Given the description of an element on the screen output the (x, y) to click on. 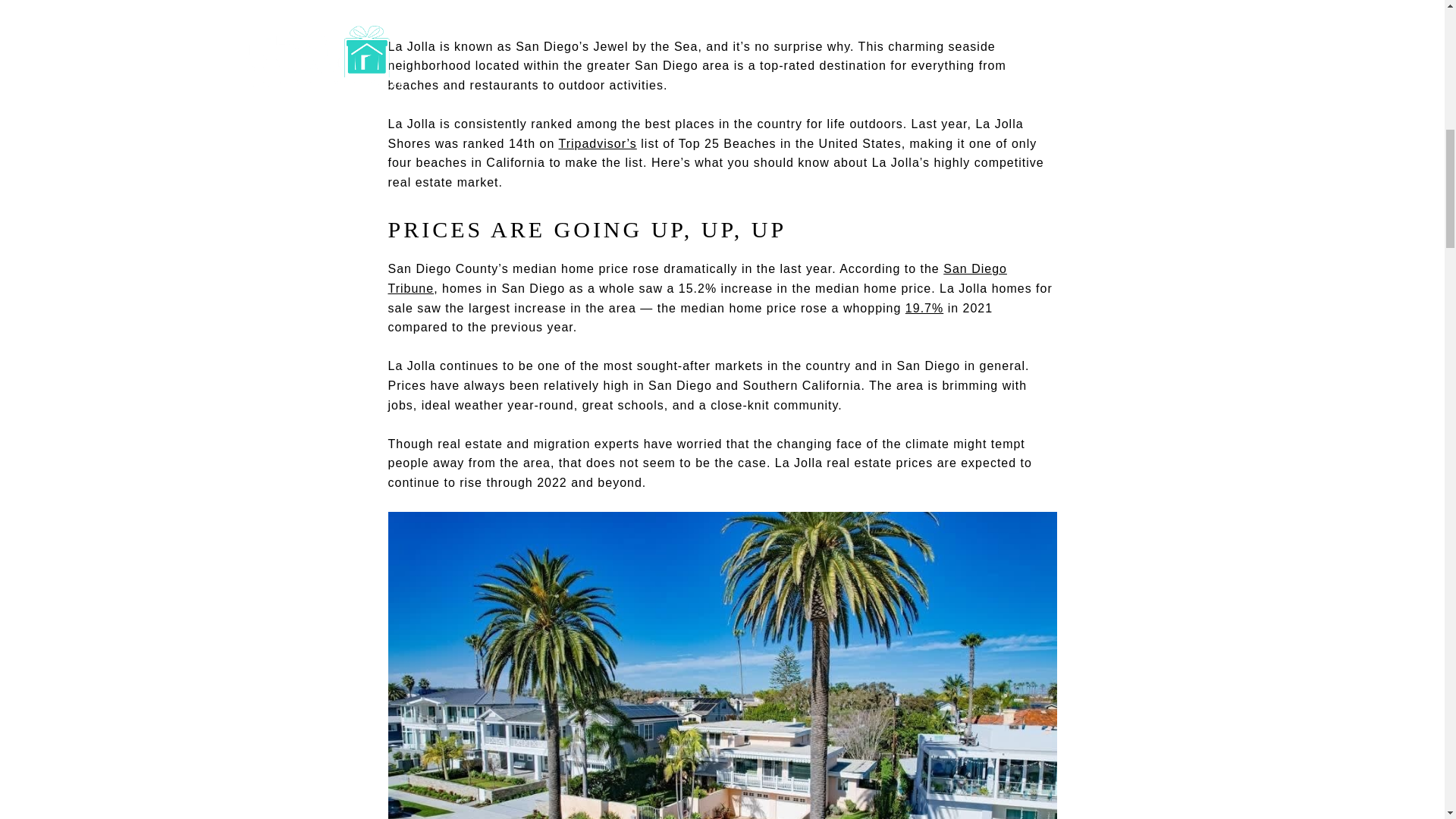
San Diego Tribune (697, 278)
